Given the description of an element on the screen output the (x, y) to click on. 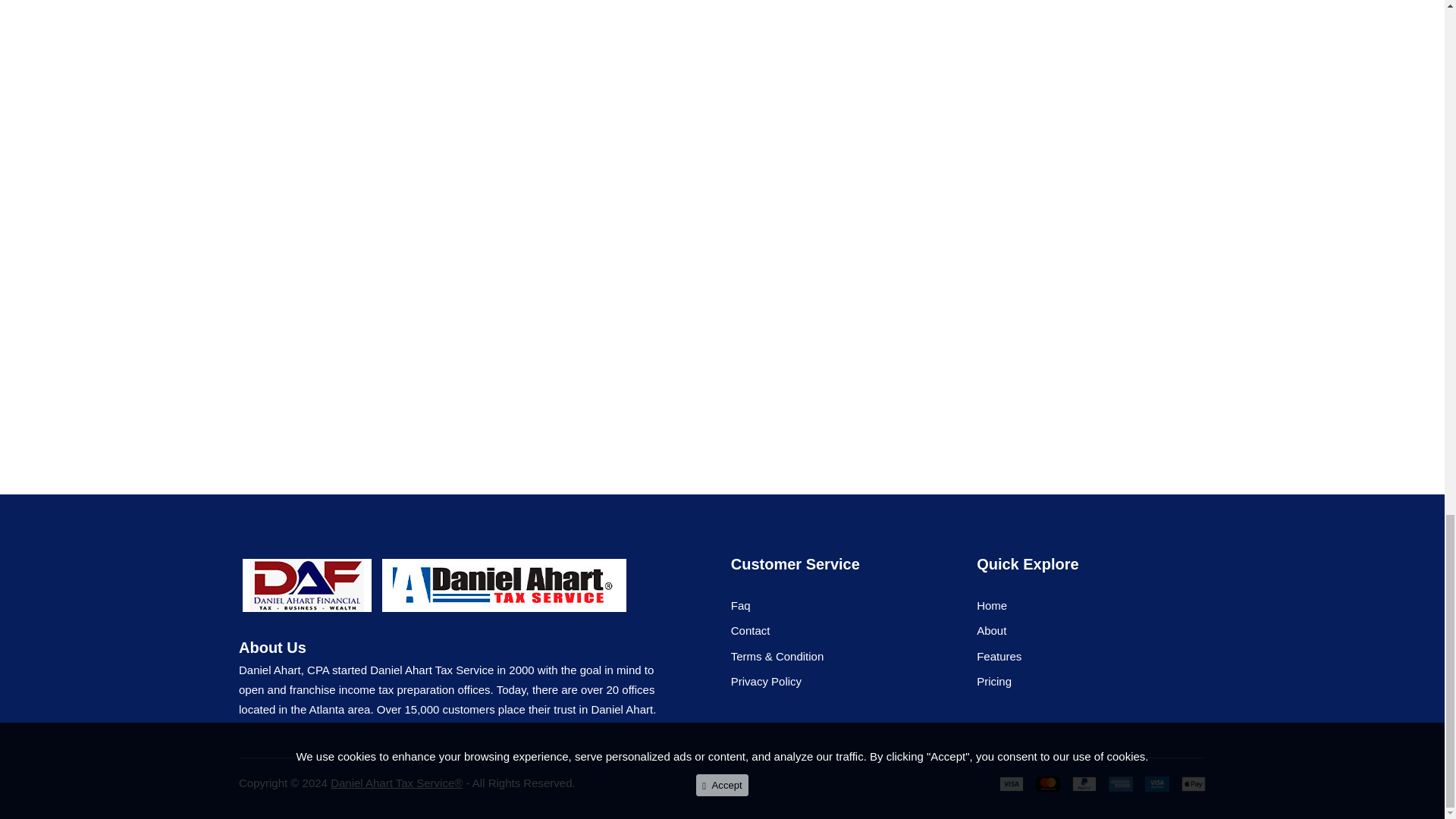
About (991, 630)
Contact (750, 630)
Privacy Policy (766, 680)
Pricing (993, 680)
Faq (740, 604)
Home (991, 604)
Features (999, 656)
